Given the description of an element on the screen output the (x, y) to click on. 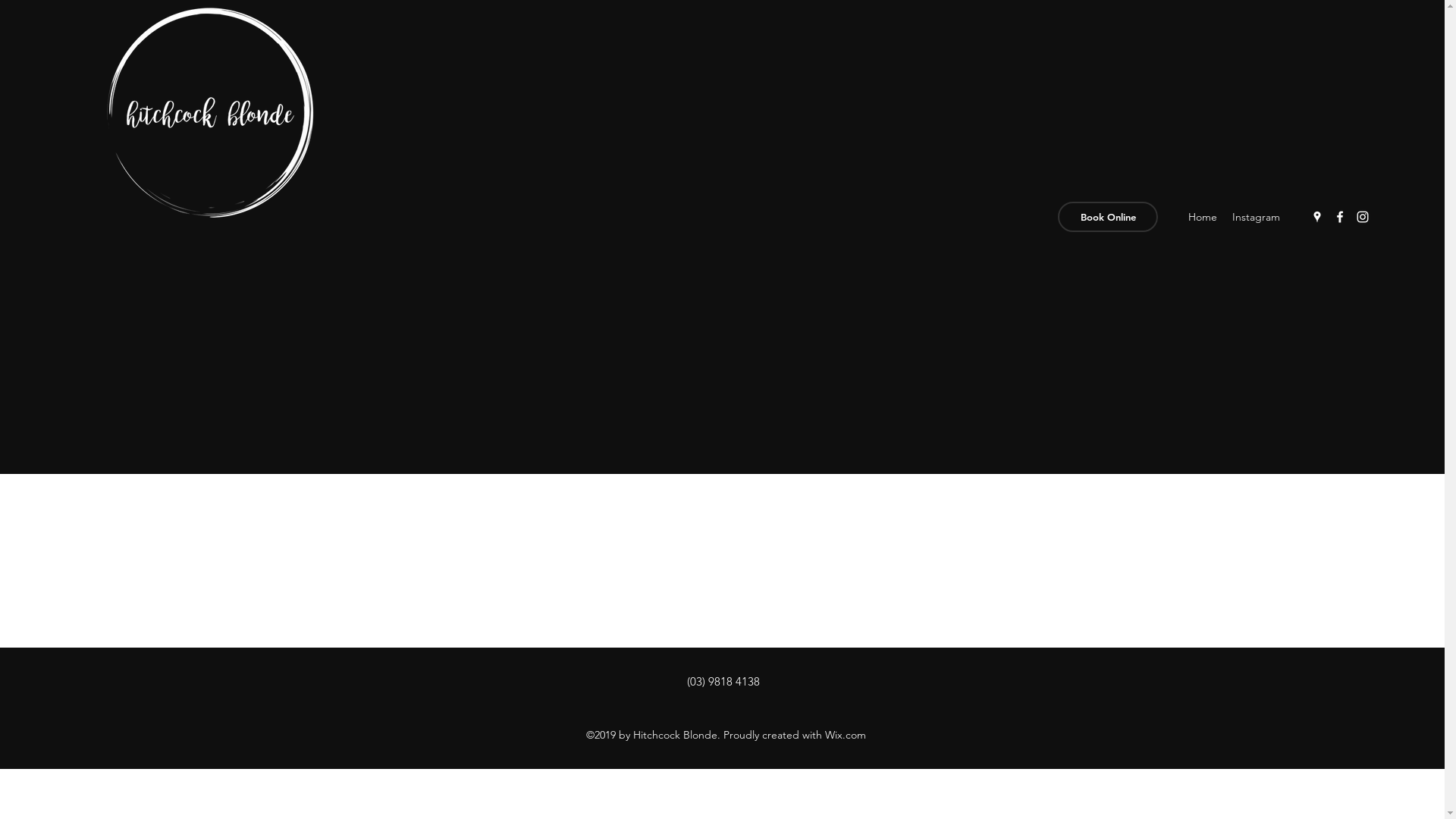
Instagram Feeds Element type: hover (722, 366)
Instagram Element type: text (1255, 216)
Home Element type: text (1202, 216)
Book Online Element type: text (1107, 216)
